Given the description of an element on the screen output the (x, y) to click on. 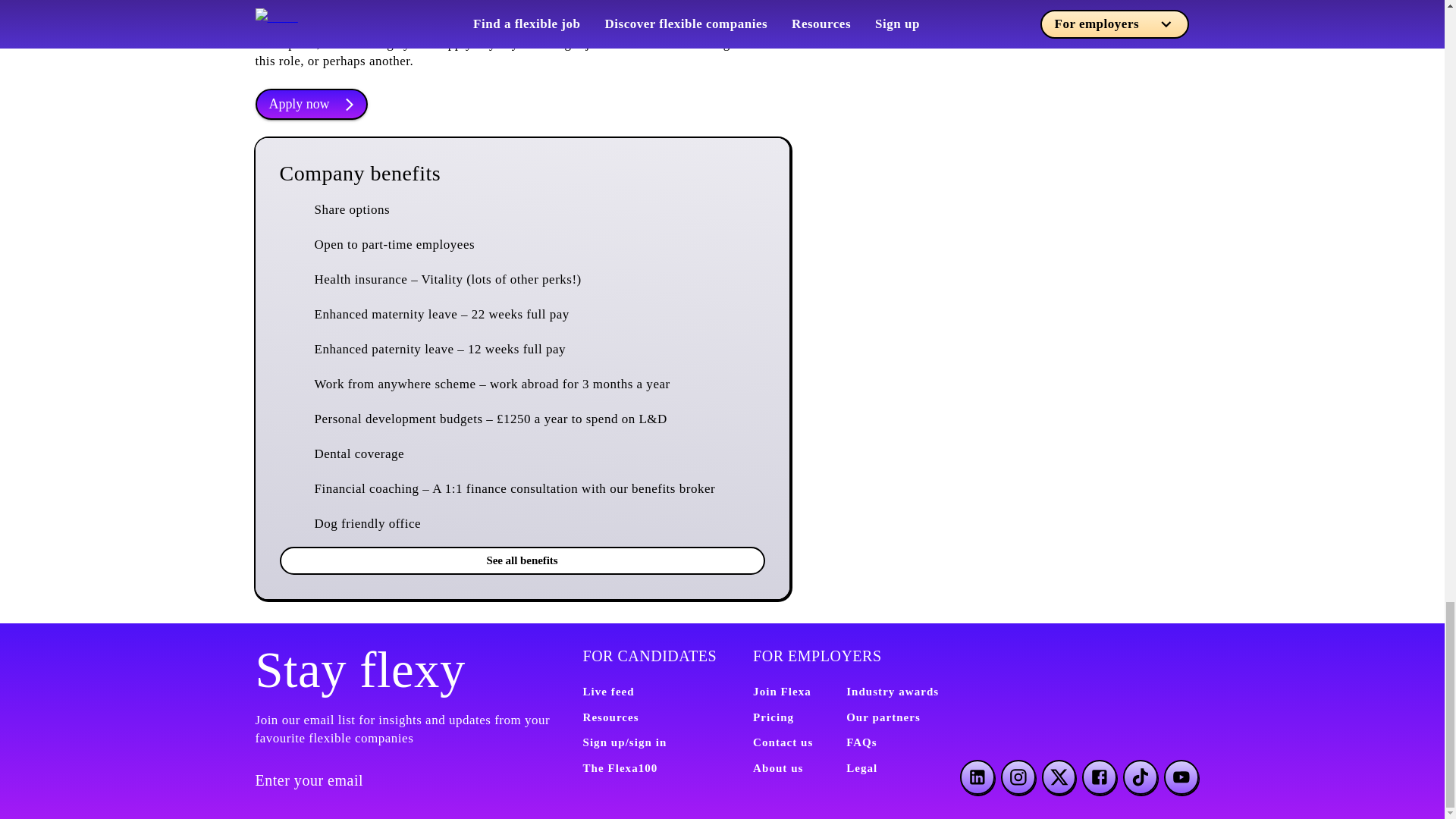
See all benefits (521, 560)
The Flexa100 (620, 767)
Our partners (882, 717)
Join Flexa (781, 691)
Industry awards (892, 691)
Resources (610, 717)
Pricing (772, 717)
Apply now (310, 103)
Live feed (607, 691)
